Given the description of an element on the screen output the (x, y) to click on. 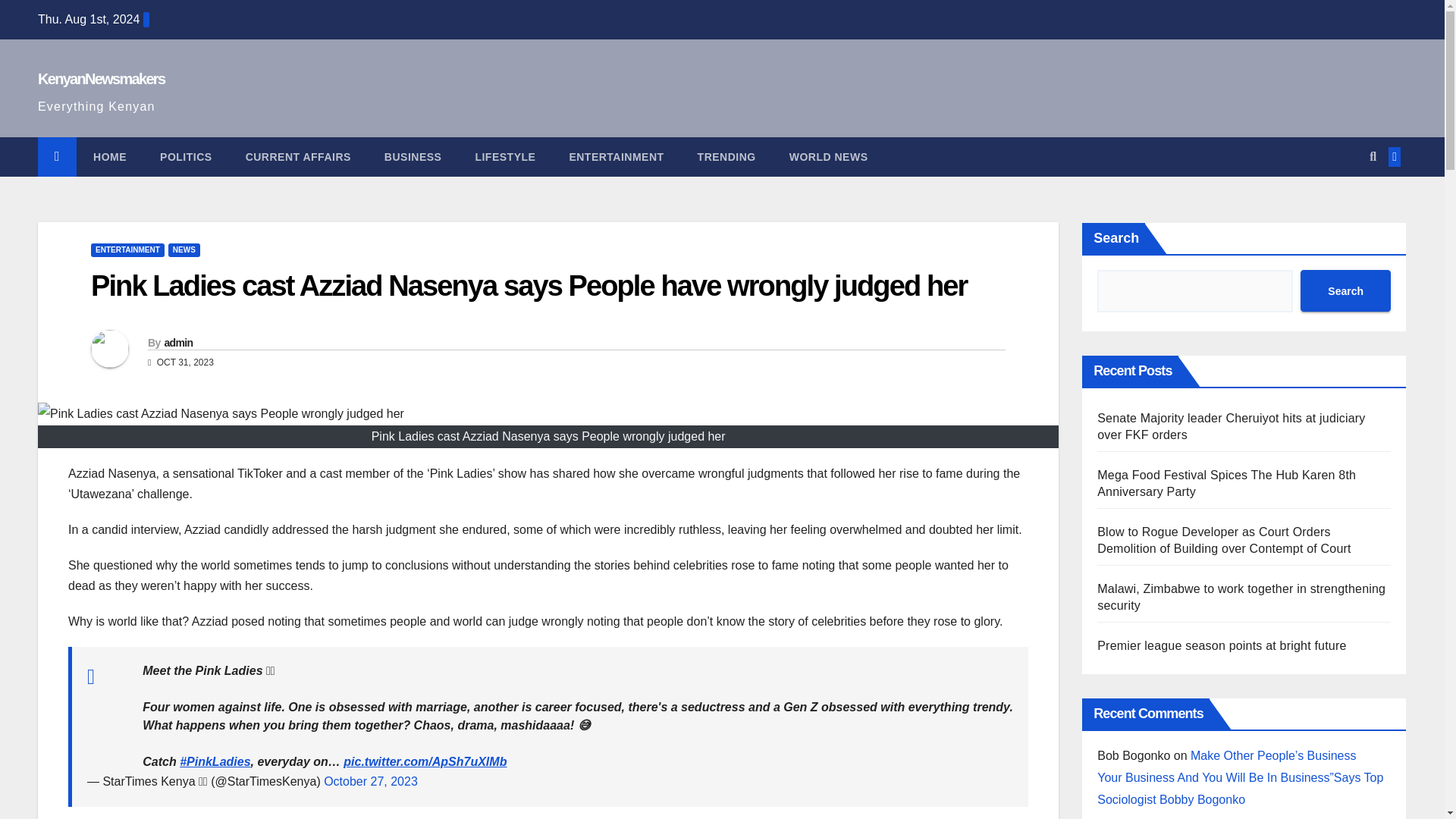
KenyanNewsmakers (100, 78)
Business (413, 156)
CURRENT AFFAIRS (298, 156)
POLITICS (185, 156)
WORLD NEWS (829, 156)
BUSINESS (413, 156)
HOME (109, 156)
Entertainment (615, 156)
October 27, 2023 (370, 780)
